Given the description of an element on the screen output the (x, y) to click on. 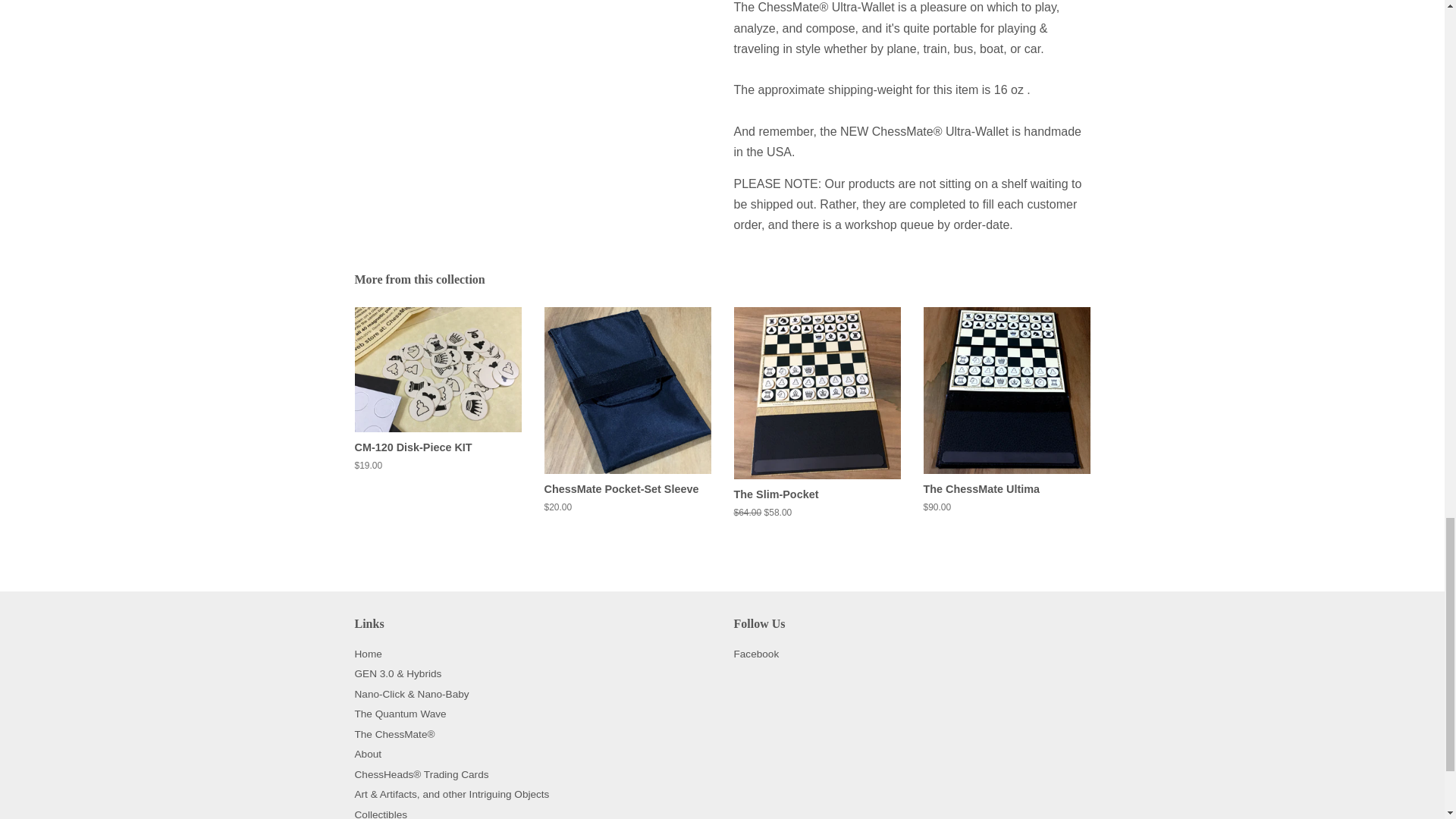
Mindspan Labs on Facebook (755, 654)
